Given the description of an element on the screen output the (x, y) to click on. 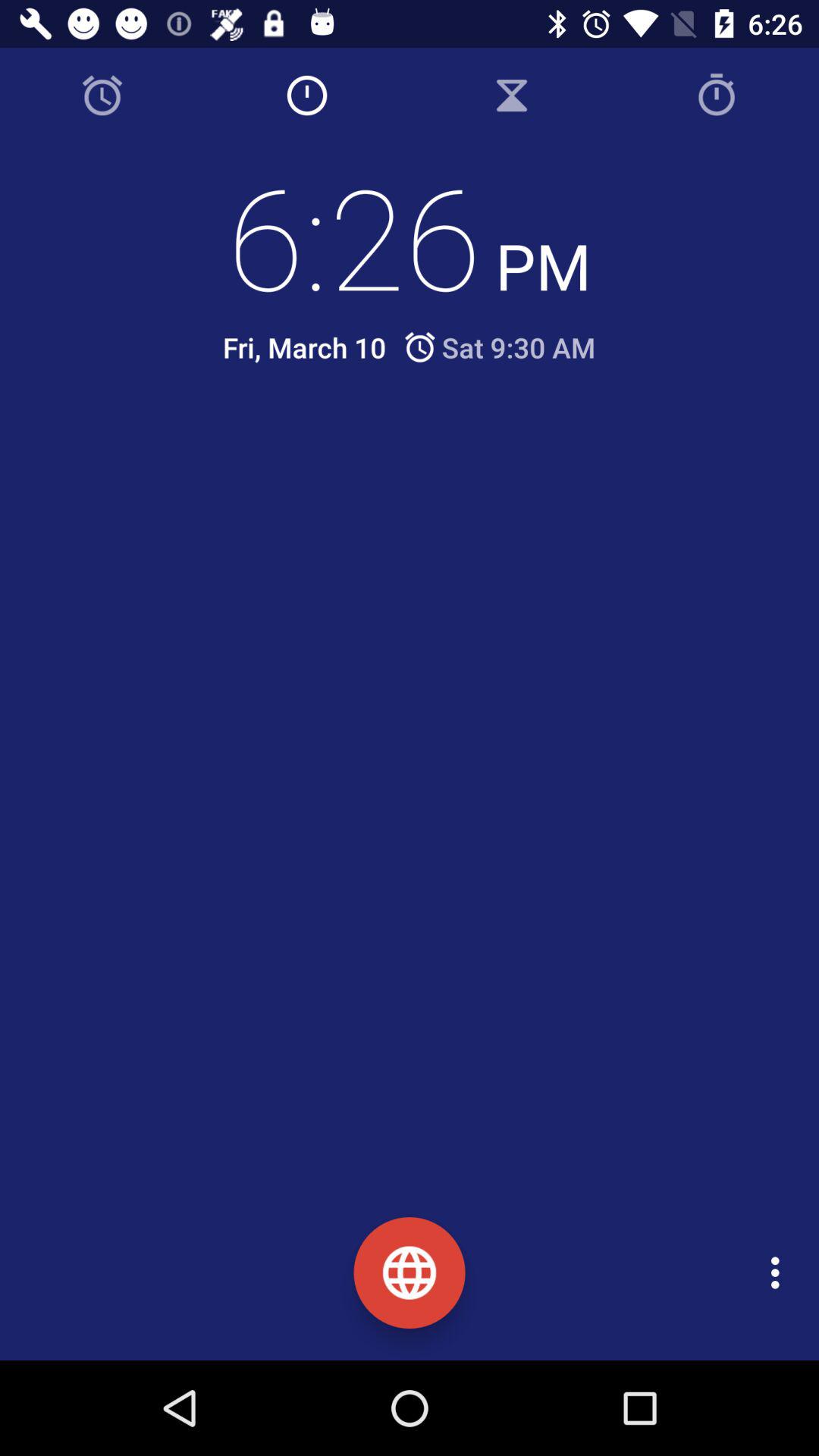
flip to the fri, march 10 (304, 347)
